Given the description of an element on the screen output the (x, y) to click on. 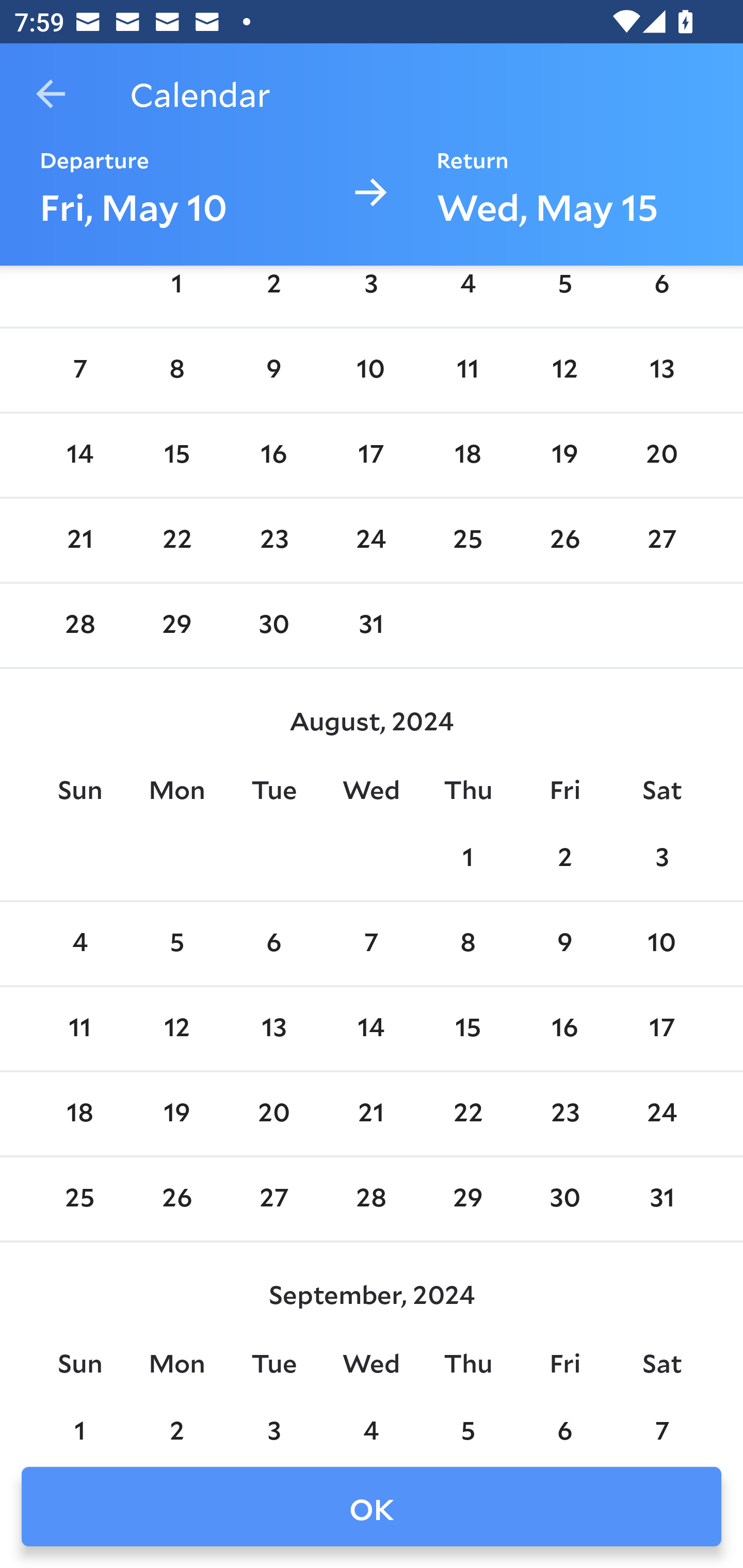
Navigate up (50, 93)
1 (177, 292)
2 (273, 292)
3 (371, 292)
4 (467, 292)
5 (565, 292)
6 (661, 292)
7 (79, 369)
8 (177, 369)
9 (273, 369)
10 (371, 369)
11 (467, 369)
12 (565, 369)
13 (661, 369)
14 (79, 454)
15 (177, 454)
16 (273, 454)
17 (371, 454)
18 (467, 454)
19 (565, 454)
20 (661, 454)
21 (79, 540)
22 (177, 540)
23 (273, 540)
24 (371, 540)
25 (467, 540)
26 (565, 540)
27 (661, 540)
28 (79, 625)
29 (177, 625)
30 (273, 625)
31 (371, 625)
1 (467, 859)
2 (565, 859)
3 (661, 859)
4 (79, 943)
5 (177, 943)
6 (273, 943)
7 (371, 943)
8 (467, 943)
9 (565, 943)
10 (661, 943)
11 (79, 1028)
12 (177, 1028)
13 (273, 1028)
14 (371, 1028)
15 (467, 1028)
16 (565, 1028)
17 (661, 1028)
18 (79, 1114)
